Given the description of an element on the screen output the (x, y) to click on. 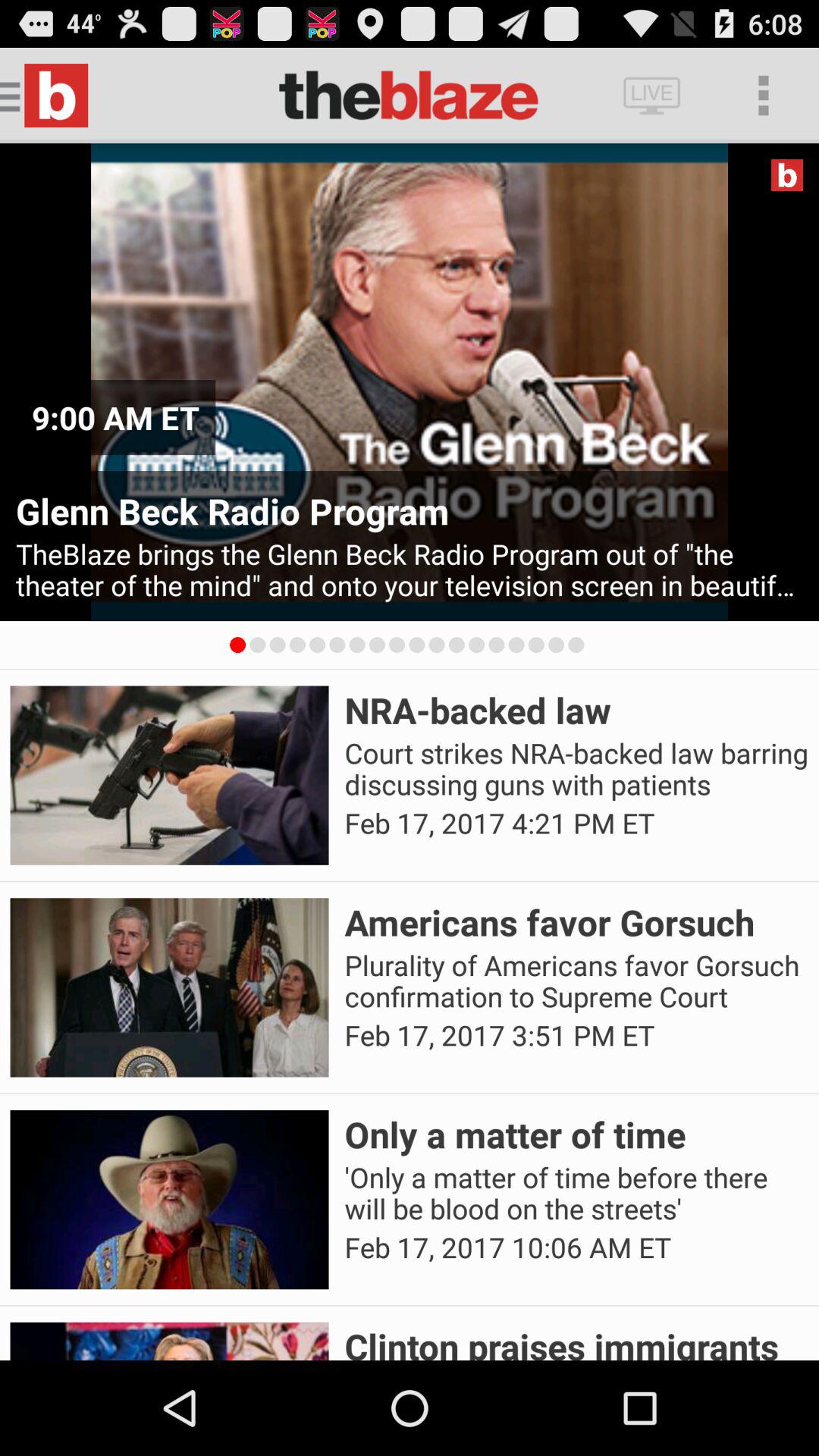
select icon below feb 17 2017 icon (576, 1341)
